Given the description of an element on the screen output the (x, y) to click on. 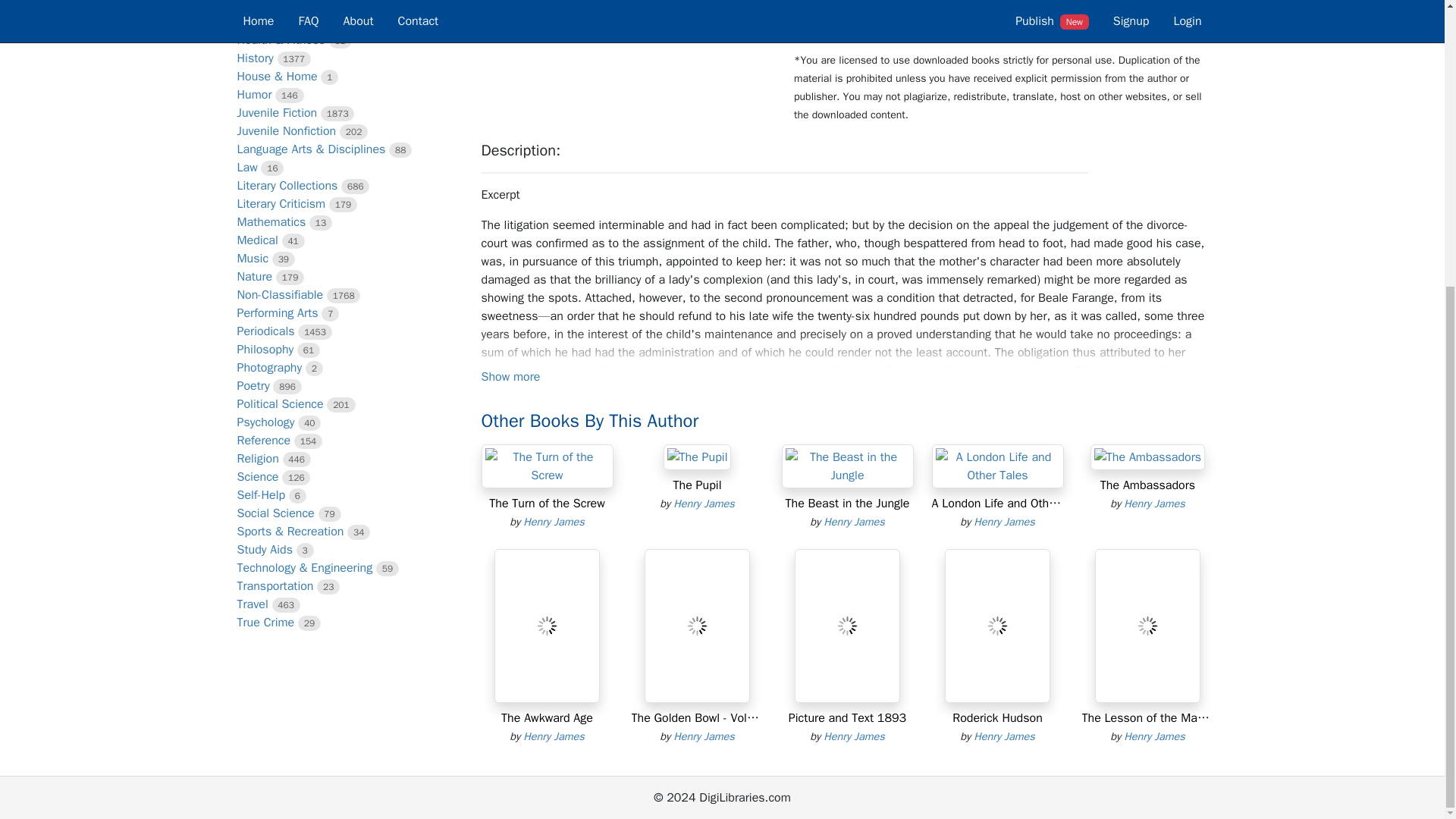
Humor (252, 94)
Medical (256, 240)
Law (246, 167)
History (254, 58)
Literary Criticism (279, 203)
Juvenile Nonfiction (285, 130)
Juvenile Fiction (276, 112)
Literary Collections (286, 185)
Mathematics (270, 222)
Gardening (262, 21)
